Given the description of an element on the screen output the (x, y) to click on. 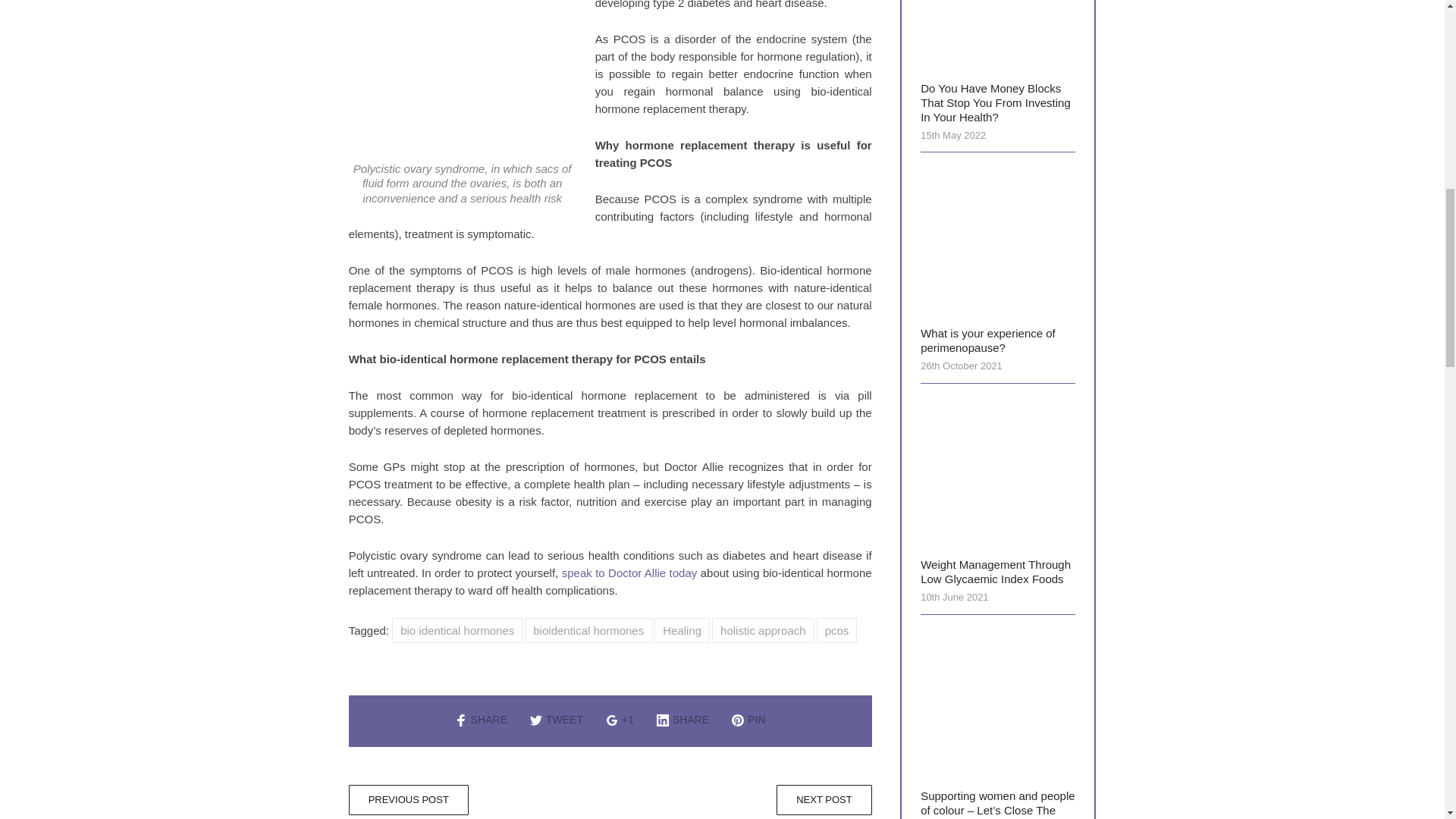
pcos (836, 630)
Healing (681, 630)
speak to Doctor Allie today (629, 572)
PIN (748, 718)
bio identical hormones (456, 630)
PREVIOUS POST (408, 798)
holistic approach (762, 630)
TWEET (556, 718)
bioidentical hormones (588, 630)
SHARE (682, 718)
